Given the description of an element on the screen output the (x, y) to click on. 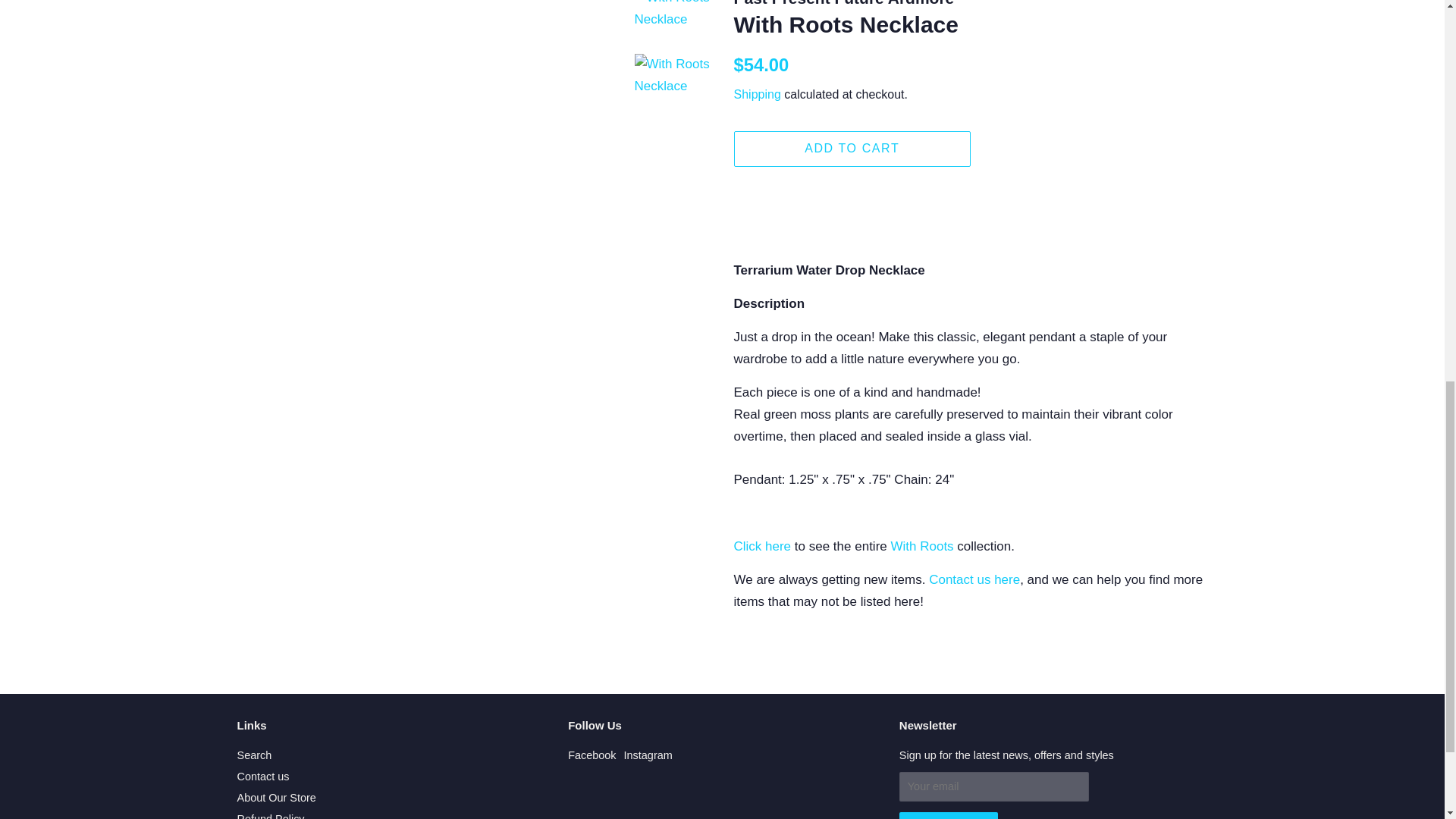
Past Present Future Ardmore on Facebook (591, 755)
Past Present Future Ardmore on Instagram (648, 755)
Subscribe (948, 815)
